Given the description of an element on the screen output the (x, y) to click on. 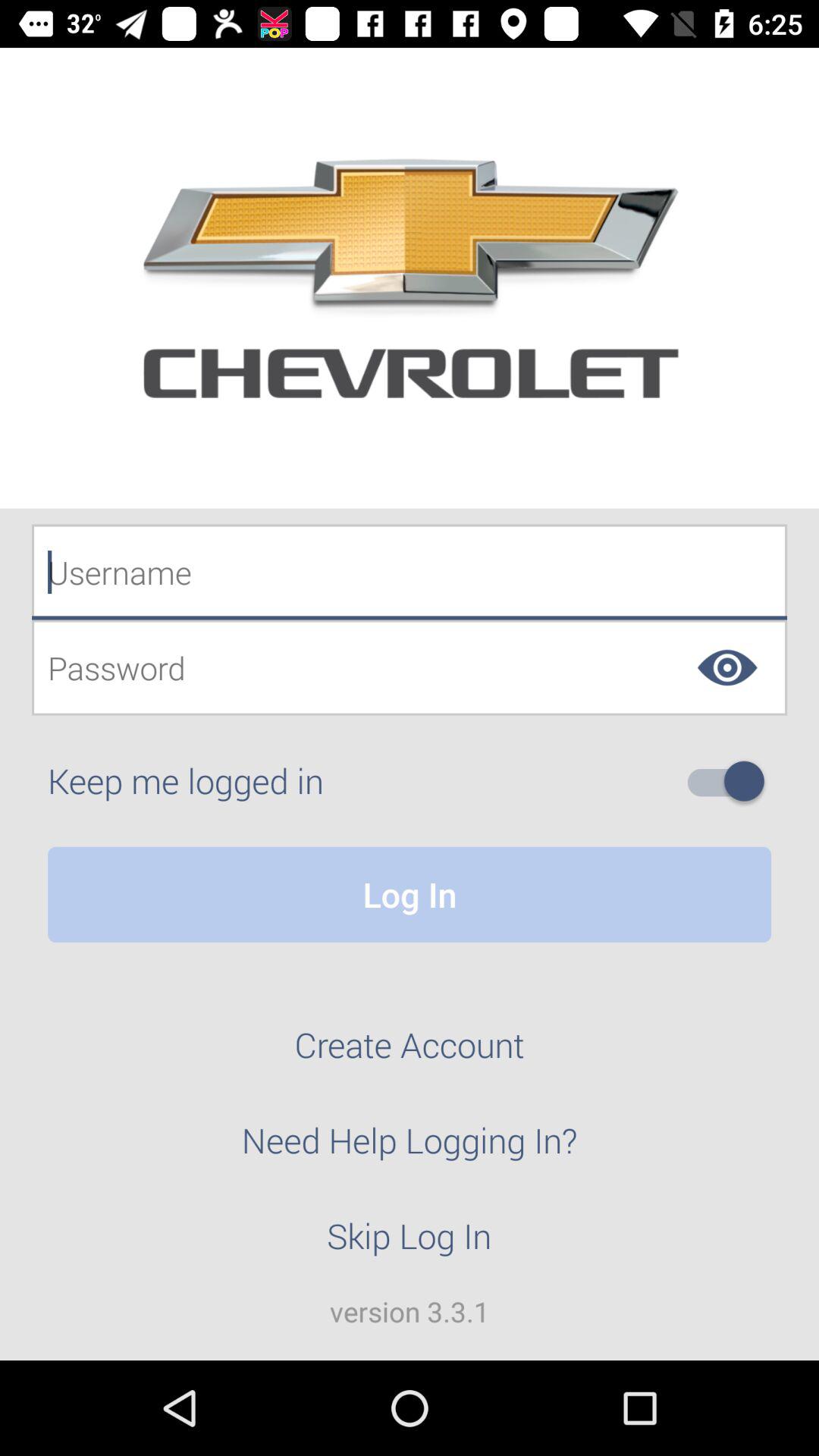
turn off item above the skip log in (409, 1149)
